Given the description of an element on the screen output the (x, y) to click on. 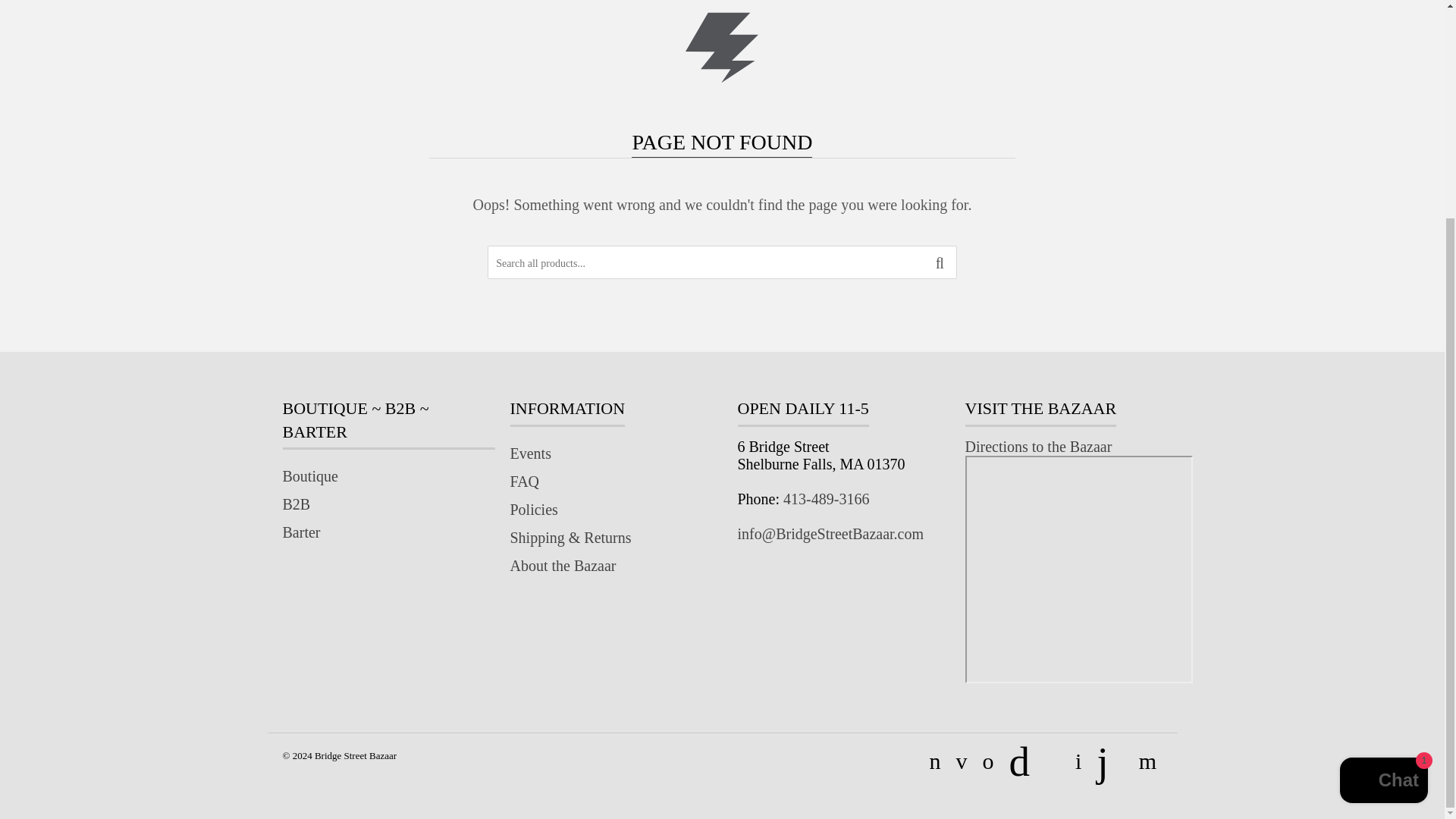
FAQ (523, 481)
B2B (296, 504)
Search (939, 263)
Boutique (309, 475)
Directions to the Bazaar (1037, 446)
413-489-3166 (826, 498)
About the Bazaar (562, 565)
About the Bazaar (562, 565)
Barter (301, 532)
Barter (301, 532)
Policies (533, 509)
Boutique (309, 475)
Policies (533, 509)
Shopify online store chat (1383, 494)
Events (529, 453)
